Given the description of an element on the screen output the (x, y) to click on. 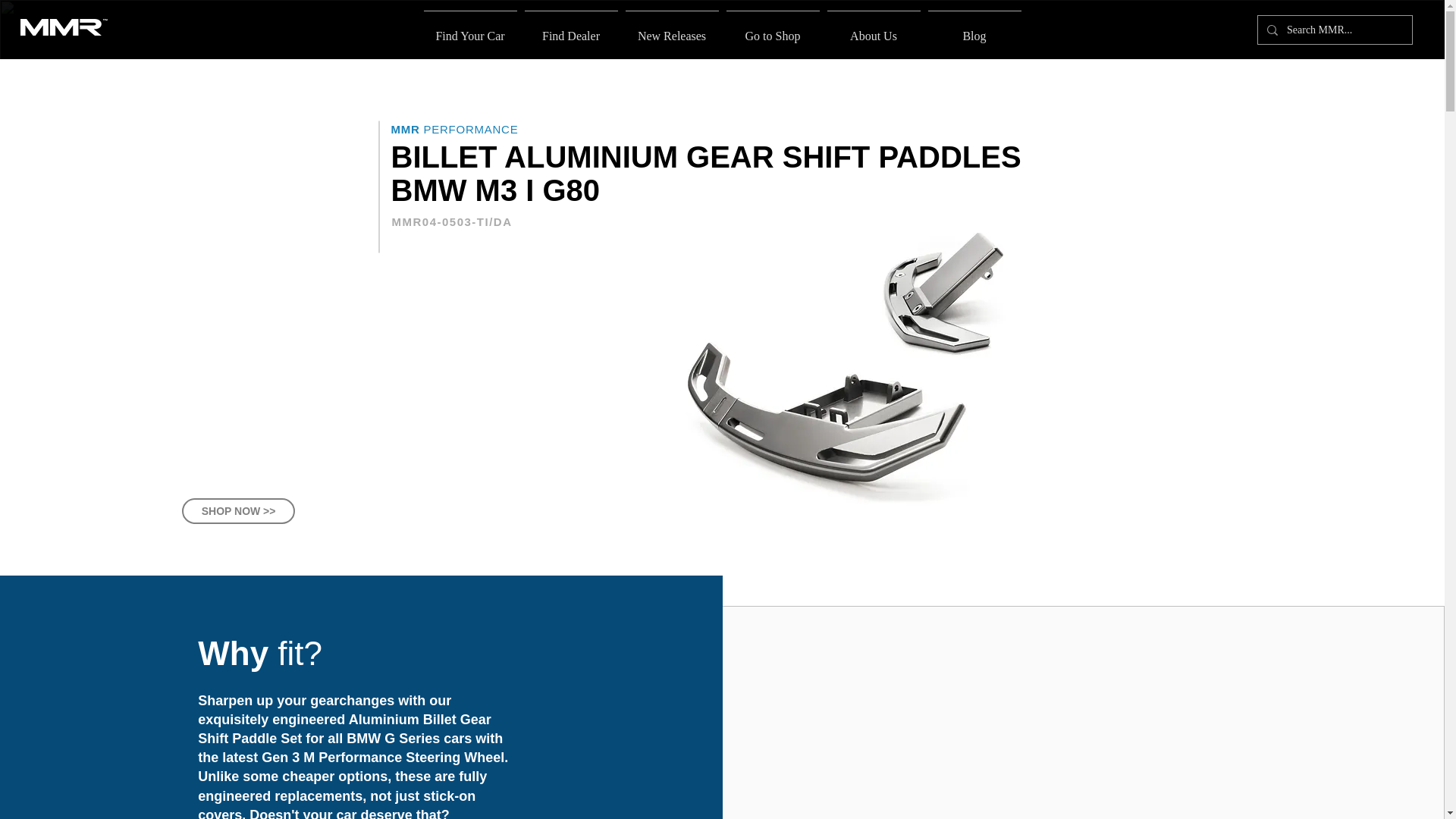
New Releases (974, 29)
Go to Shop (671, 29)
About Us (772, 29)
Find Your Car (874, 29)
Find Dealer (470, 29)
